Given the description of an element on the screen output the (x, y) to click on. 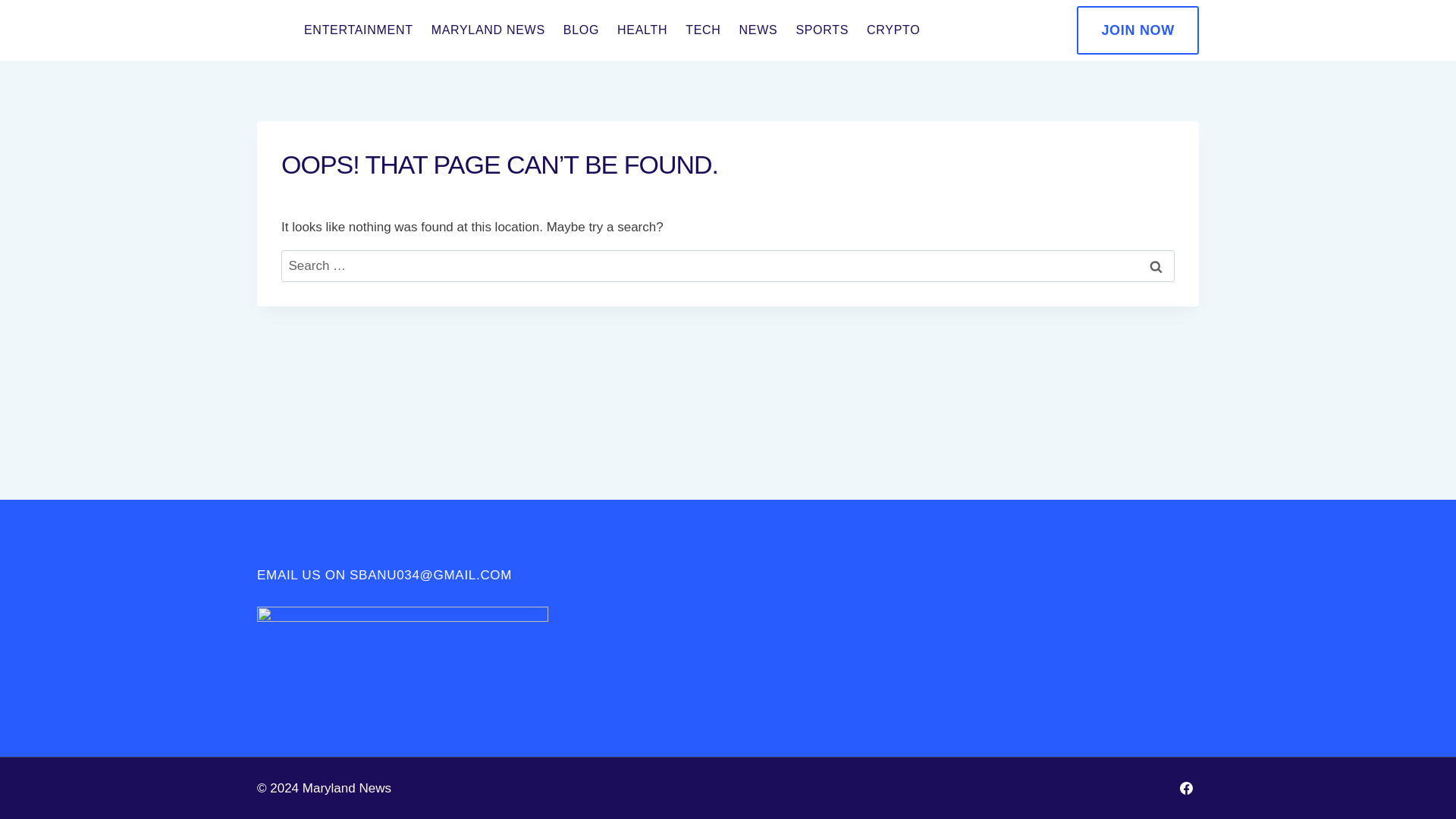
MARYLAND NEWS (488, 30)
ENTERTAINMENT (358, 30)
BLOG (581, 30)
Search (1155, 266)
NEWS (758, 30)
JOIN NOW (1137, 30)
CRYPTO (892, 30)
SPORTS (821, 30)
TECH (703, 30)
Search (1155, 266)
HEALTH (642, 30)
Search (1155, 266)
